Given the description of an element on the screen output the (x, y) to click on. 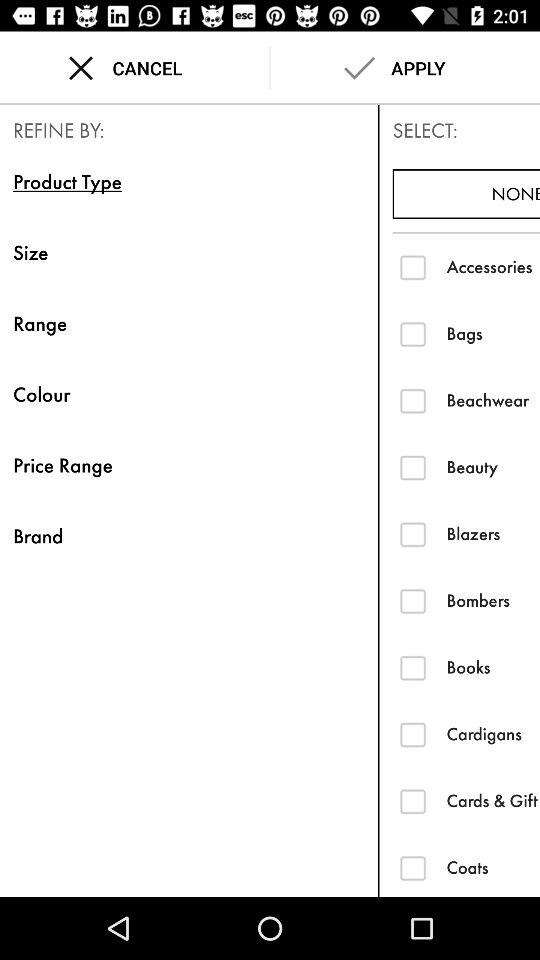
toggle coats setting (412, 867)
